Given the description of an element on the screen output the (x, y) to click on. 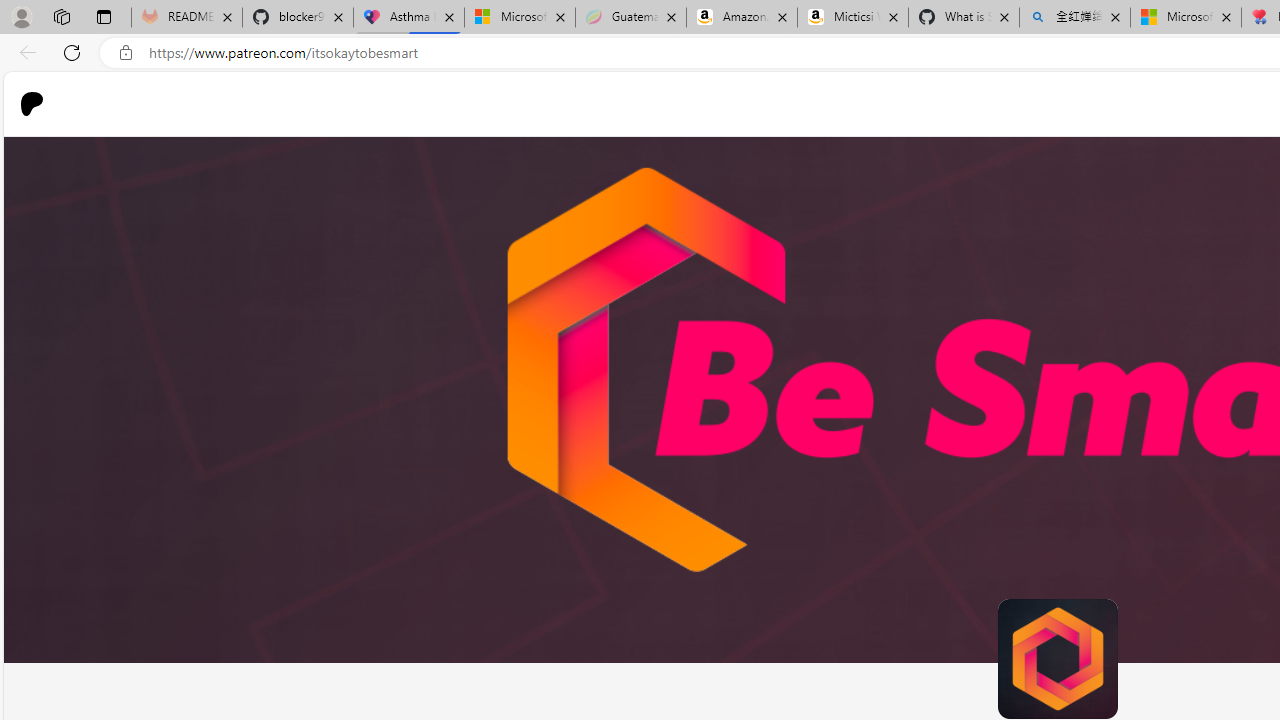
Microsoft-Report a Concern to Bing (519, 17)
Patreon logo (31, 103)
Asthma Inhalers: Names and Types (409, 17)
Go to home page (40, 103)
